Given the description of an element on the screen output the (x, y) to click on. 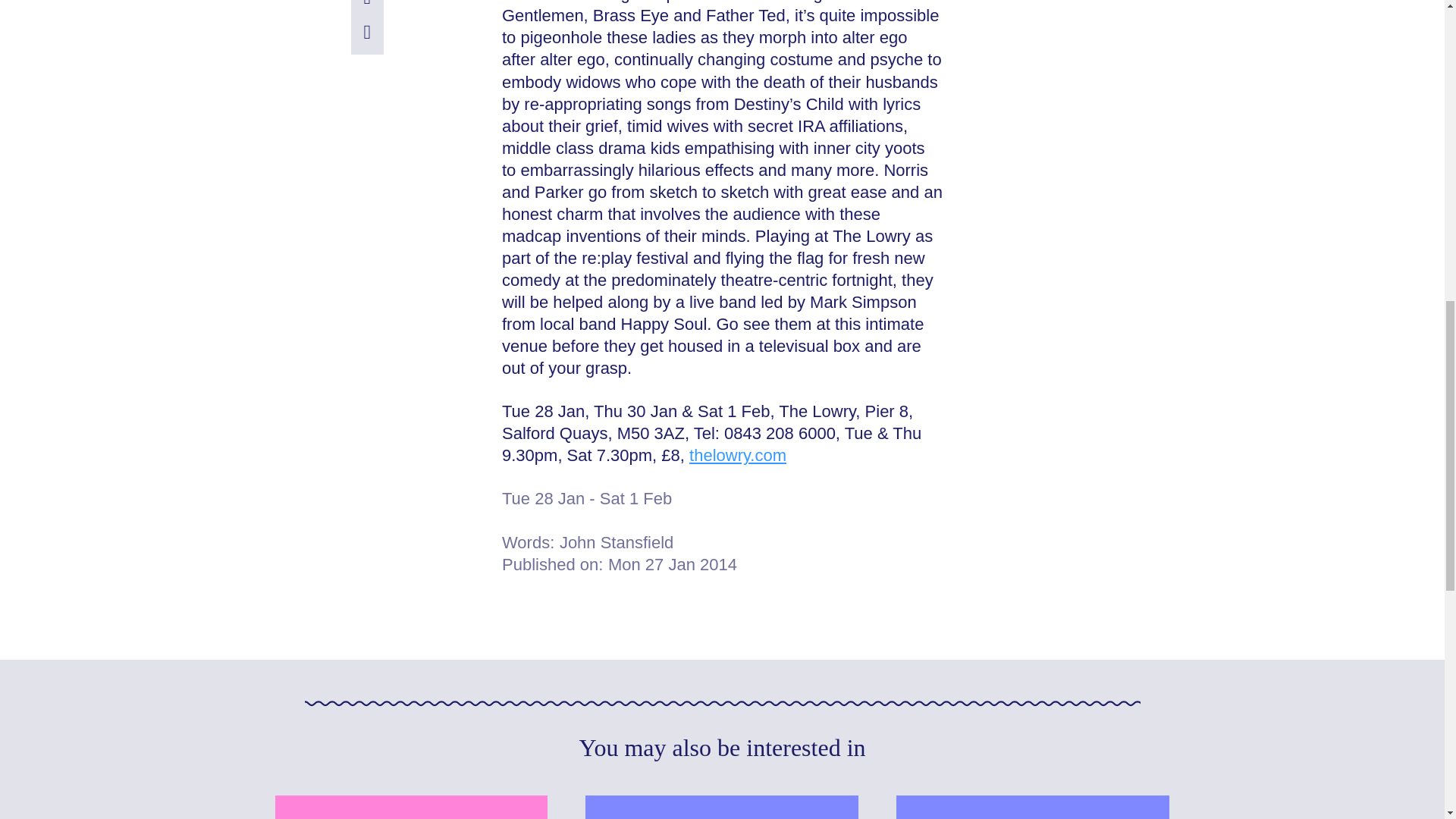
thelowry.com (737, 455)
Share on email (367, 4)
